Given the description of an element on the screen output the (x, y) to click on. 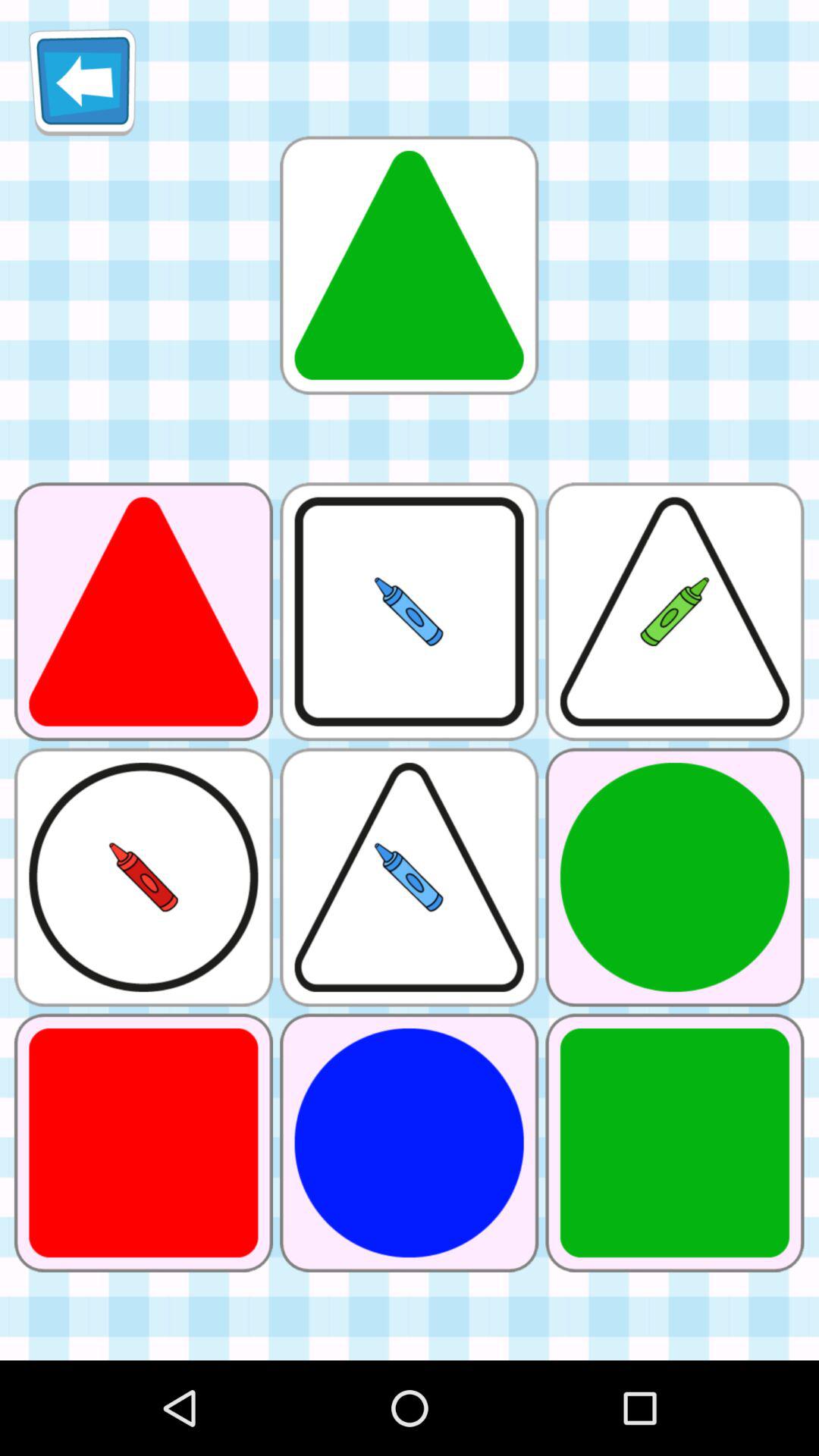
go back (82, 82)
